Given the description of an element on the screen output the (x, y) to click on. 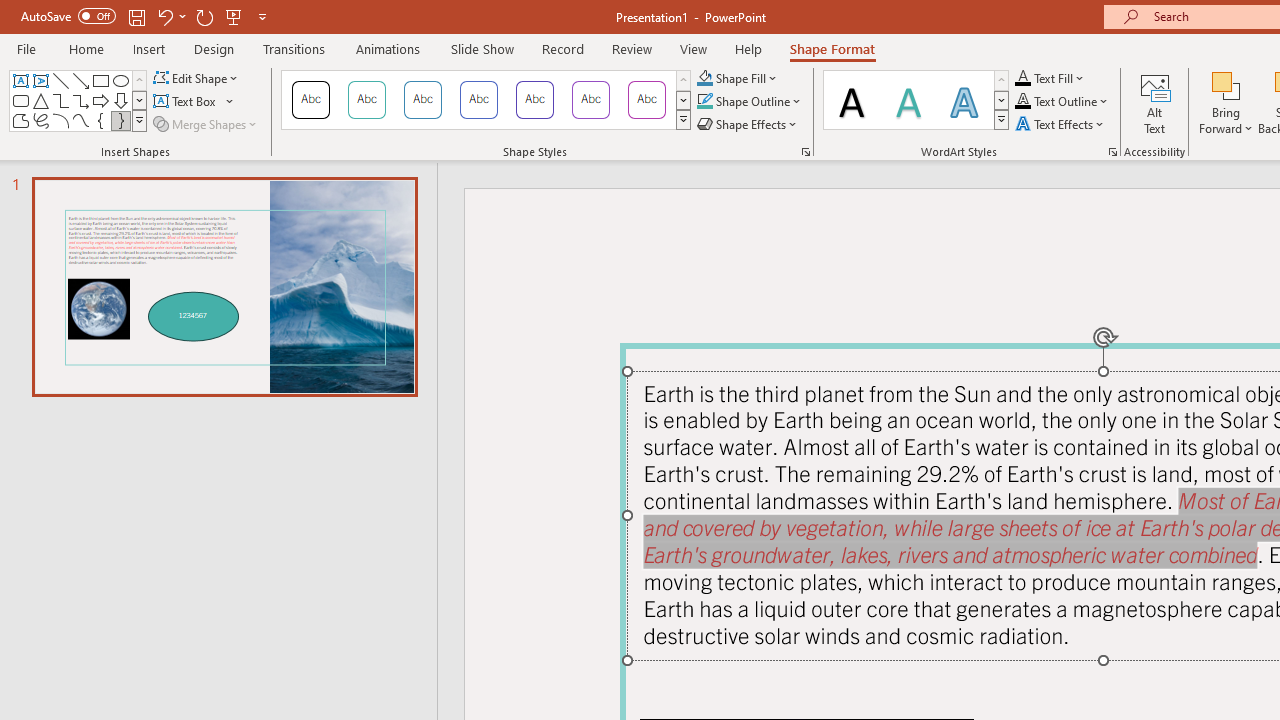
Line Arrow (80, 80)
Rectangle: Rounded Corners (20, 100)
Shape Effects (748, 124)
Text Outline RGB(0, 0, 0) (1023, 101)
Draw Horizontal Text Box (185, 101)
Format Text Effects... (1112, 151)
Connector: Elbow Arrow (80, 100)
Format Object... (805, 151)
Line (60, 80)
Design (214, 48)
Class: NetUIImage (1002, 119)
AutomationID: ShapesInsertGallery (78, 100)
Row Down (1001, 100)
Redo (204, 15)
File Tab (26, 48)
